Given the description of an element on the screen output the (x, y) to click on. 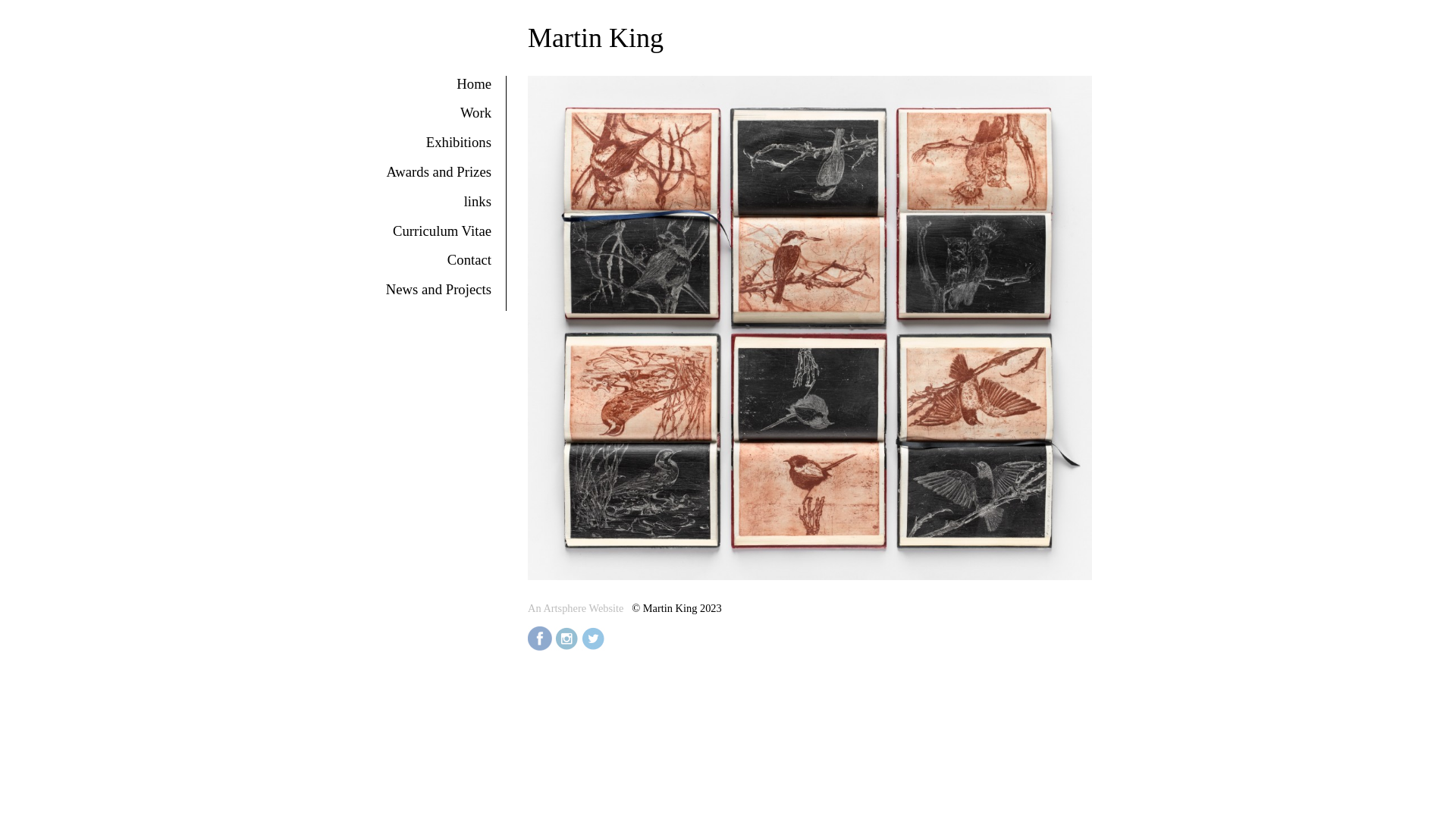
Exhibitions Element type: text (458, 142)
links Element type: text (477, 201)
News and Projects Element type: text (438, 289)
An Artsphere Website Element type: text (575, 608)
Facebook Element type: hover (540, 638)
Instagram Element type: hover (567, 638)
Twitter Element type: hover (593, 638)
Work Element type: text (475, 112)
Awards and Prizes Element type: text (438, 171)
Home Element type: text (473, 83)
Contact Element type: text (469, 259)
Curriculum Vitae Element type: text (441, 230)
false ornithology diaries by Martin King Element type: hover (809, 327)
